Given the description of an element on the screen output the (x, y) to click on. 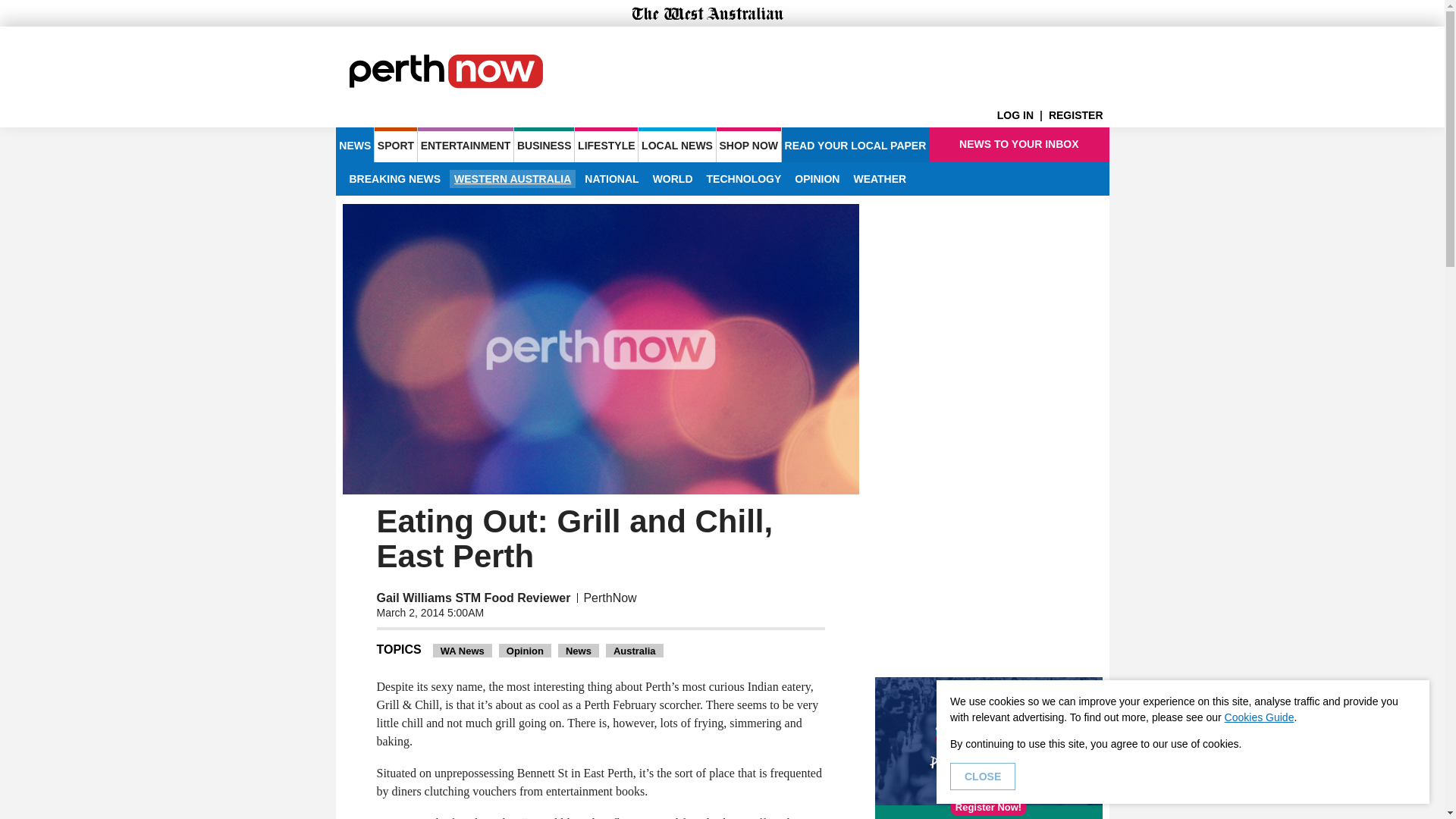
LOG IN (1022, 115)
SPORT (395, 144)
REGISTER (1078, 115)
NEWS (354, 144)
ENTERTAINMENT (465, 144)
